Given the description of an element on the screen output the (x, y) to click on. 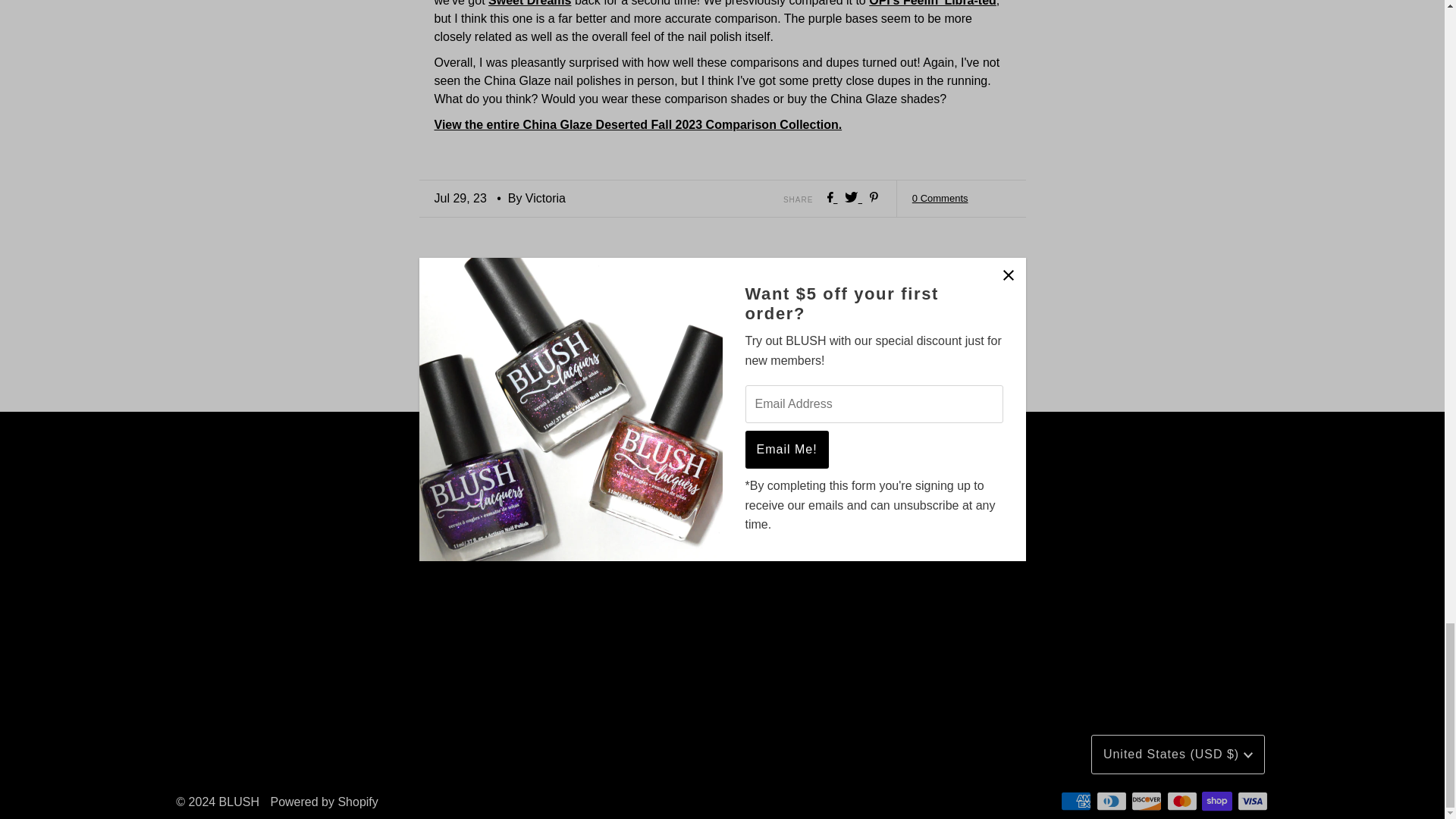
Discover (1146, 800)
Diners Club (1111, 800)
Visa (1252, 800)
Shop Pay (1216, 800)
American Express (1075, 800)
Mastercard (1181, 800)
